Given the description of an element on the screen output the (x, y) to click on. 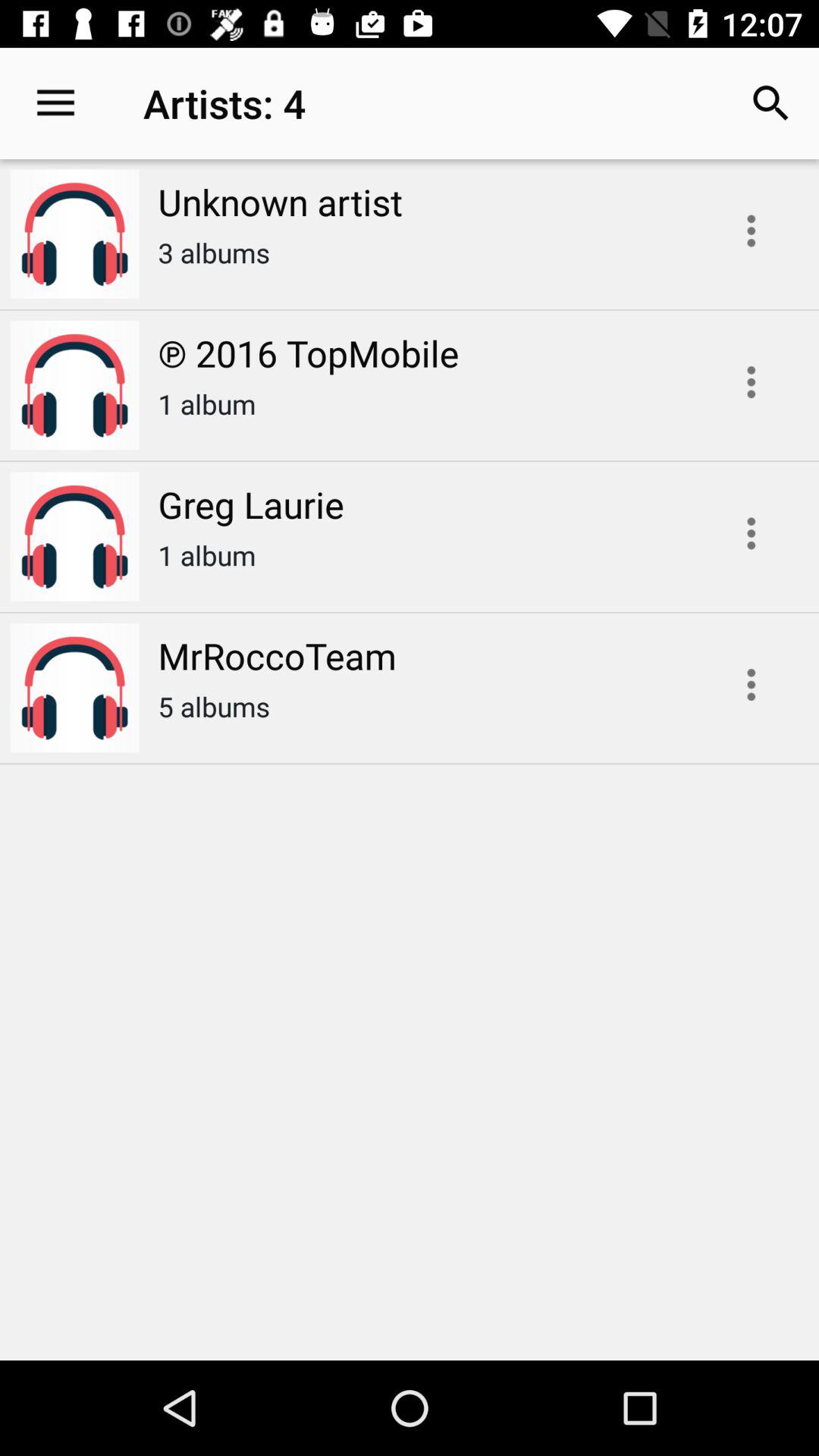
view more information (750, 381)
